Given the description of an element on the screen output the (x, y) to click on. 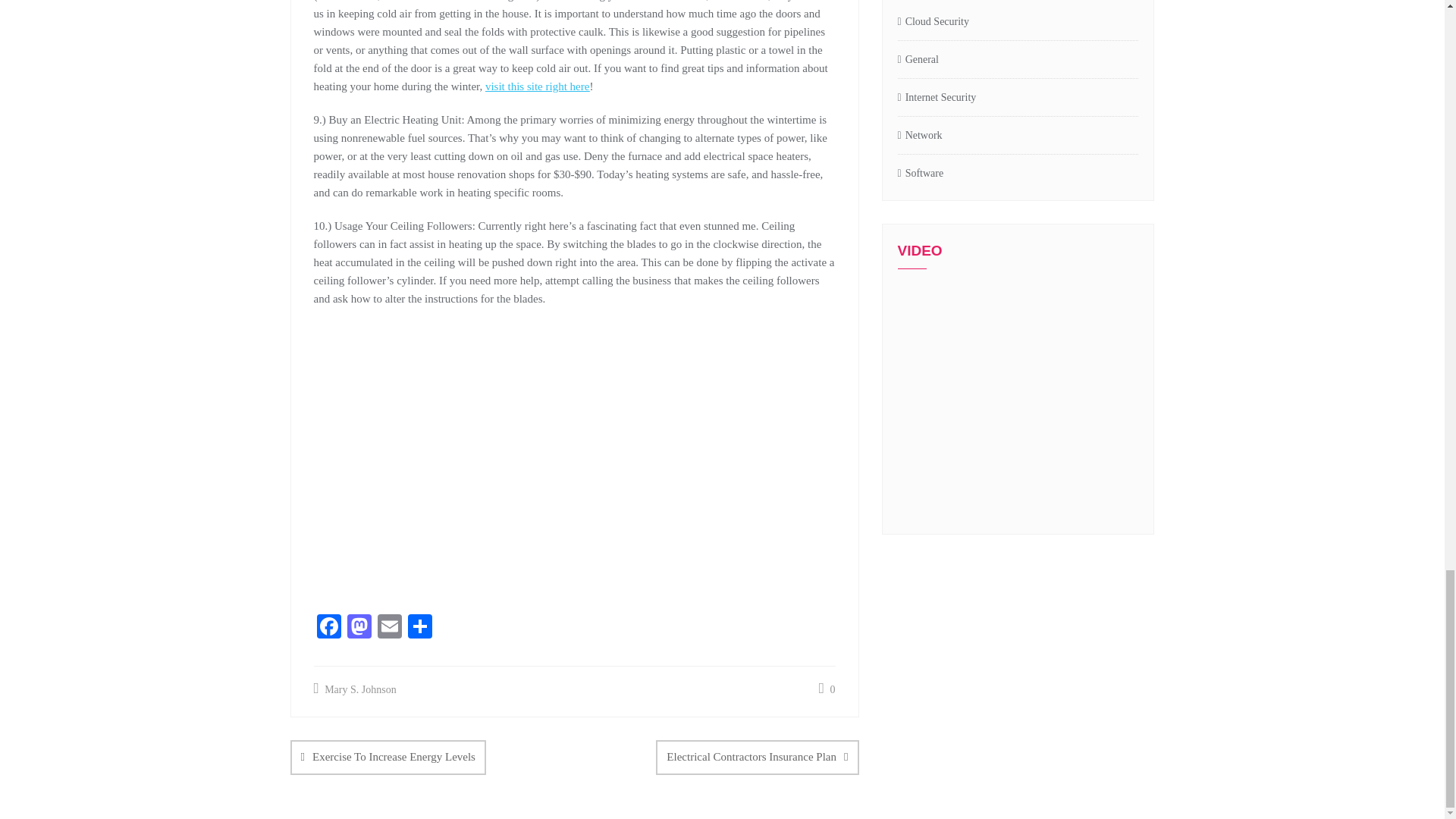
Facebook (328, 628)
Electrical Contractors Insurance Plan (757, 756)
visit this site right here (536, 86)
Email (389, 628)
Email (389, 628)
Share (419, 628)
Exercise To Increase Energy Levels (386, 756)
Mastodon (358, 628)
Mary S. Johnson (355, 689)
Facebook (328, 628)
Mastodon (358, 628)
